Given the description of an element on the screen output the (x, y) to click on. 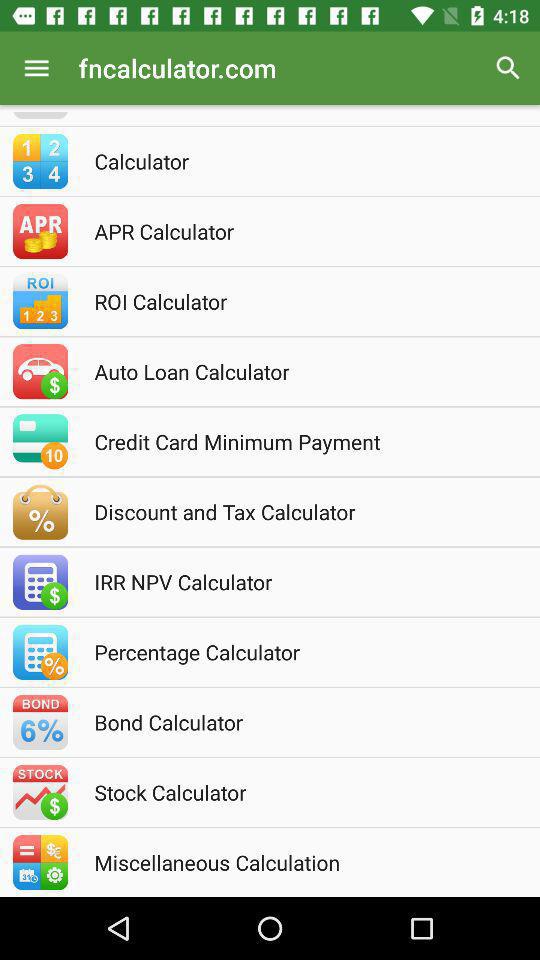
open the roi calculator icon (297, 301)
